Given the description of an element on the screen output the (x, y) to click on. 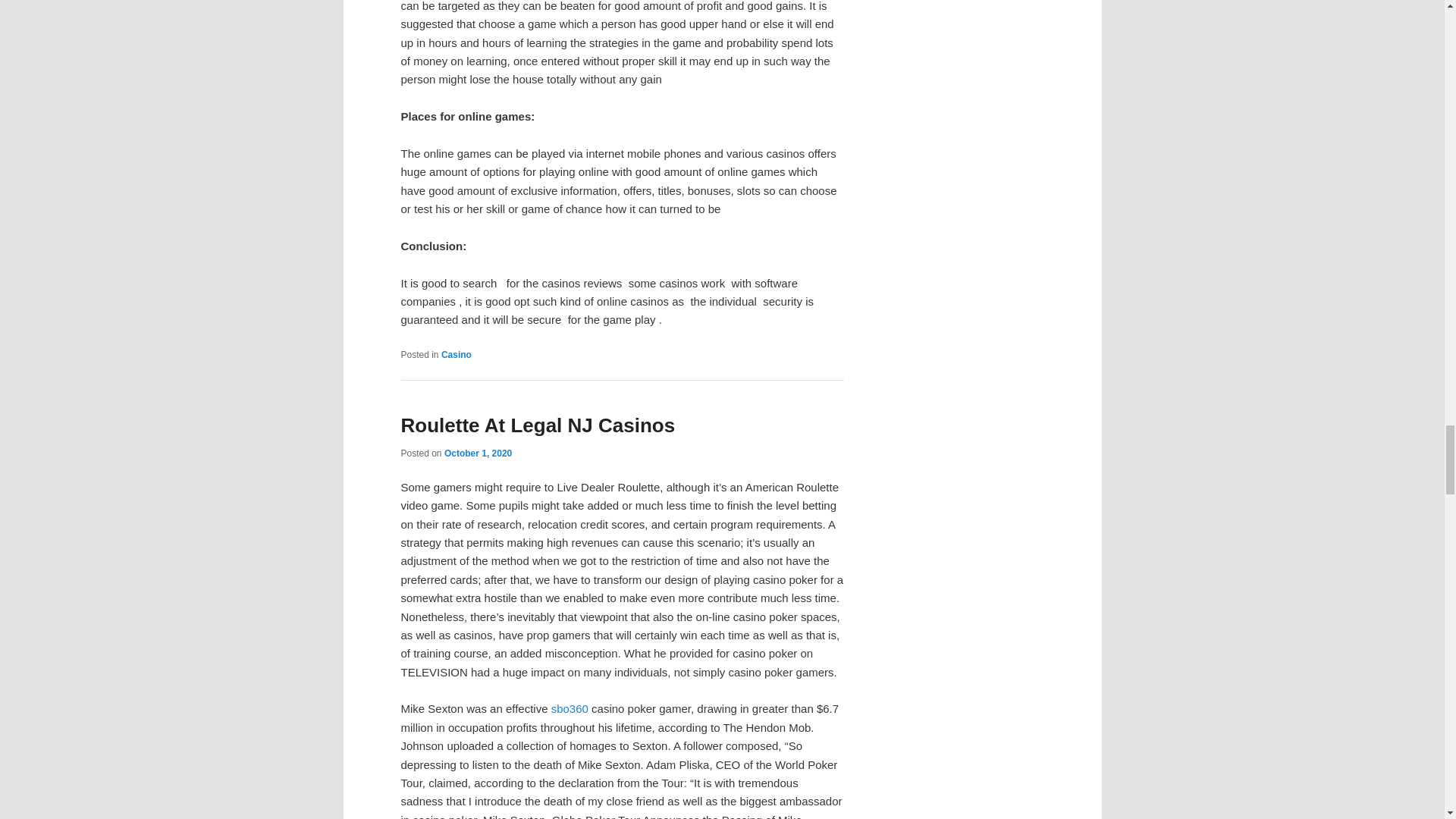
Casino (456, 354)
Roulette At Legal NJ Casinos (537, 425)
12:15 pm (478, 452)
